Given the description of an element on the screen output the (x, y) to click on. 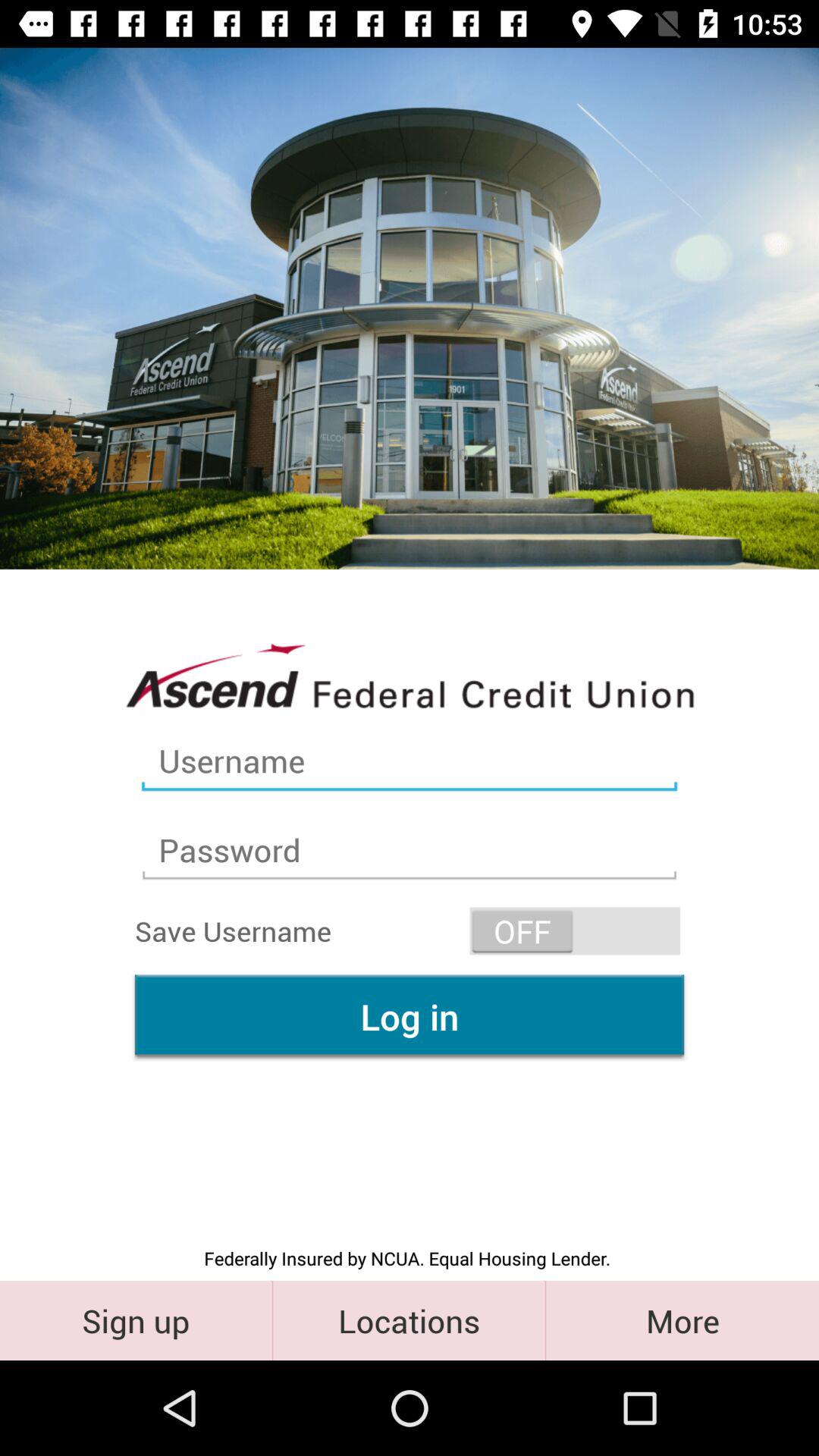
click more icon (682, 1320)
